Given the description of an element on the screen output the (x, y) to click on. 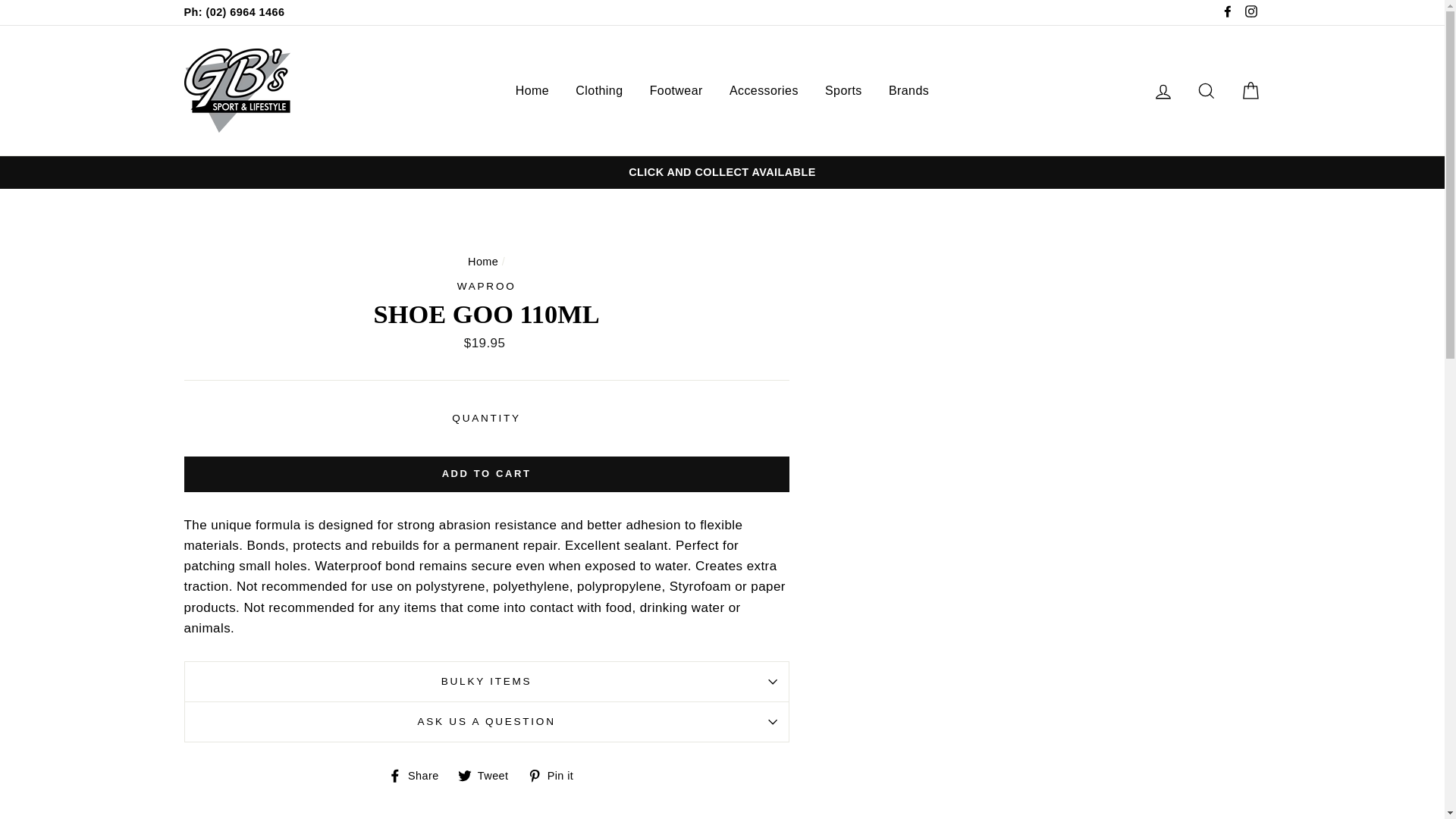
Back to the frontpage (482, 261)
Pin on Pinterest (556, 775)
Tweet on Twitter (488, 775)
Share on Facebook (418, 775)
